Given the description of an element on the screen output the (x, y) to click on. 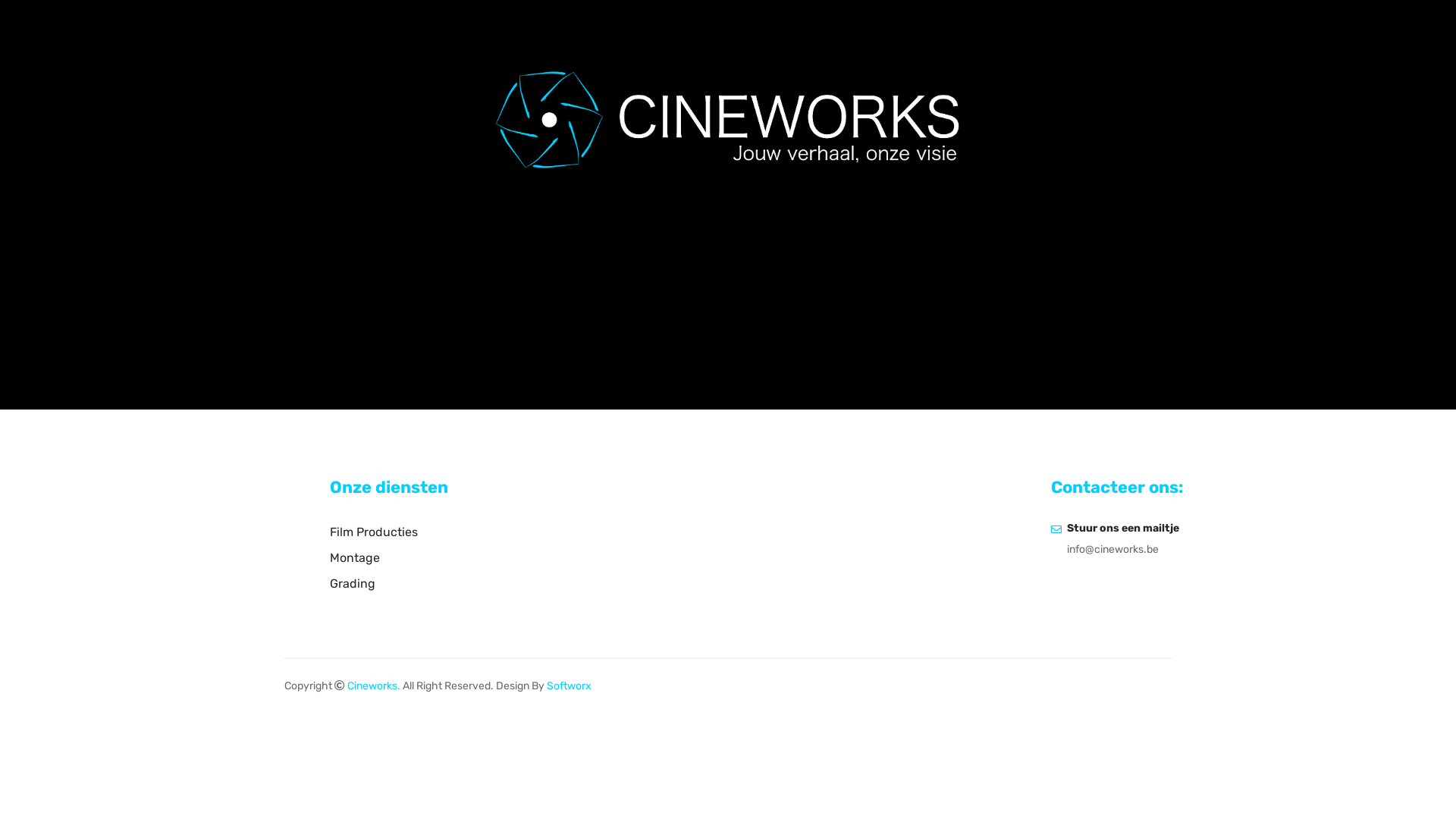
Cineworks. Element type: text (373, 685)
Softworx Element type: text (568, 685)
